Given the description of an element on the screen output the (x, y) to click on. 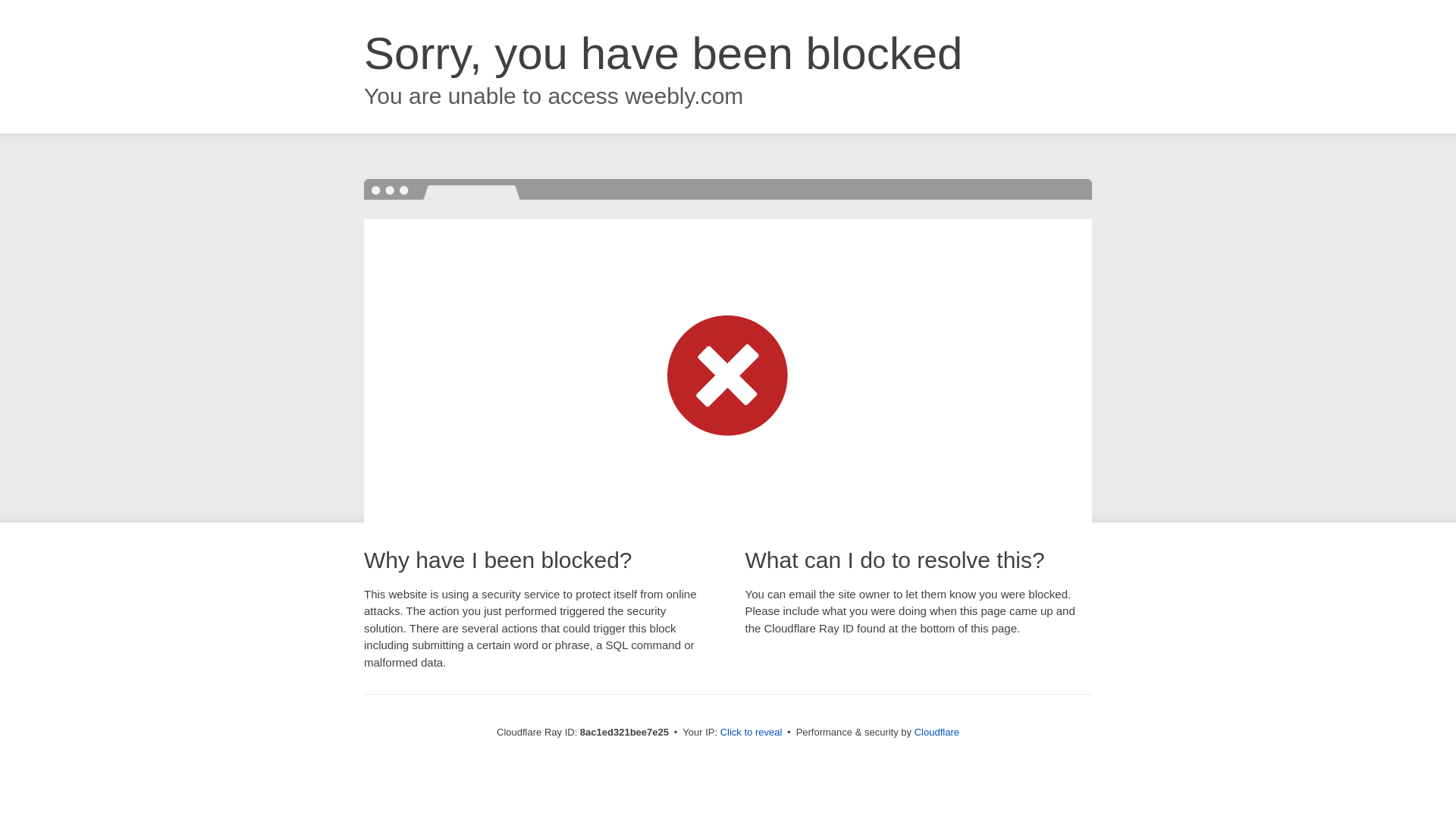
Cloudflare (936, 731)
Click to reveal (751, 732)
